Given the description of an element on the screen output the (x, y) to click on. 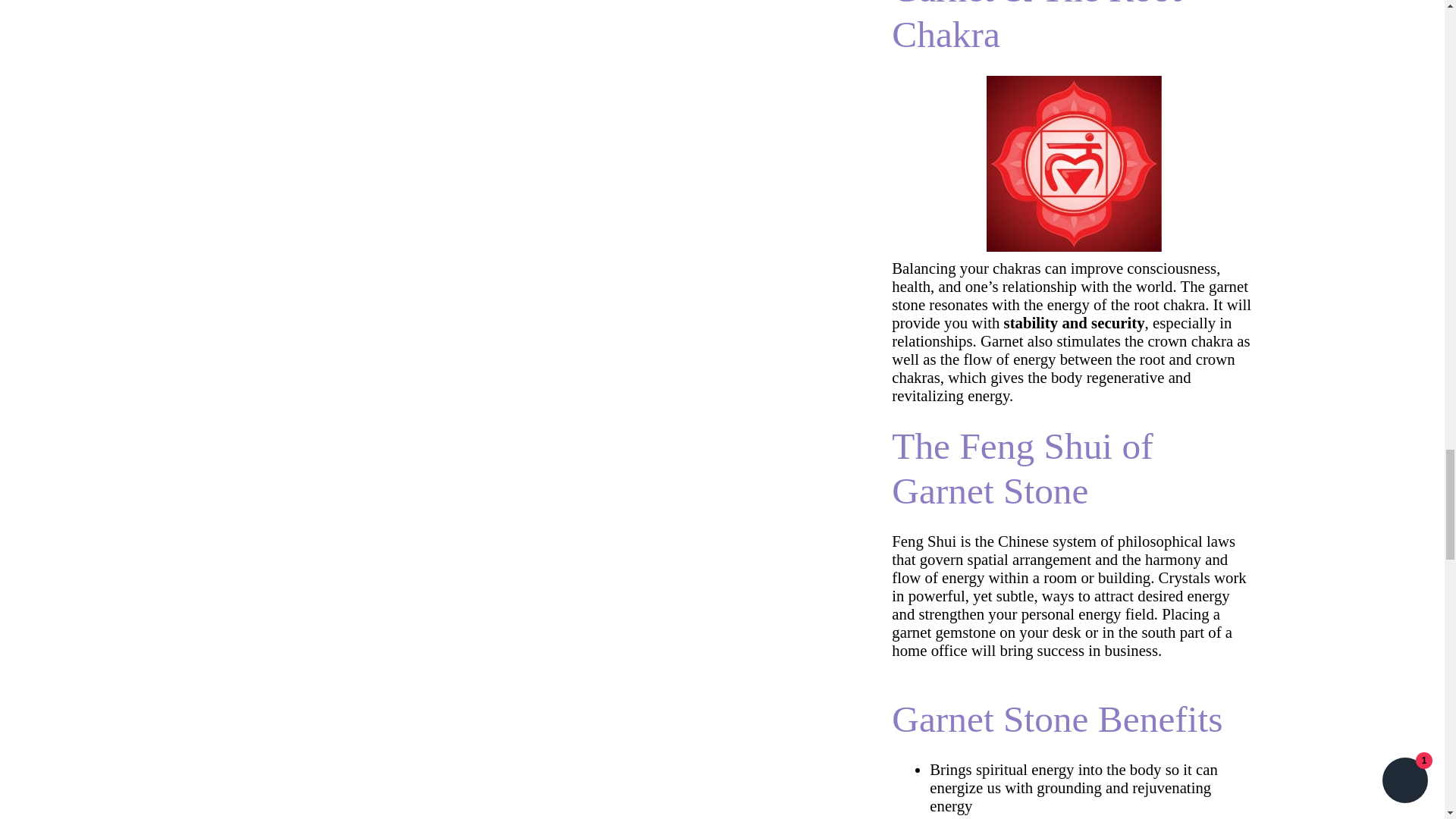
goldstone (1026, 158)
disclosure (1057, 317)
